Given the description of an element on the screen output the (x, y) to click on. 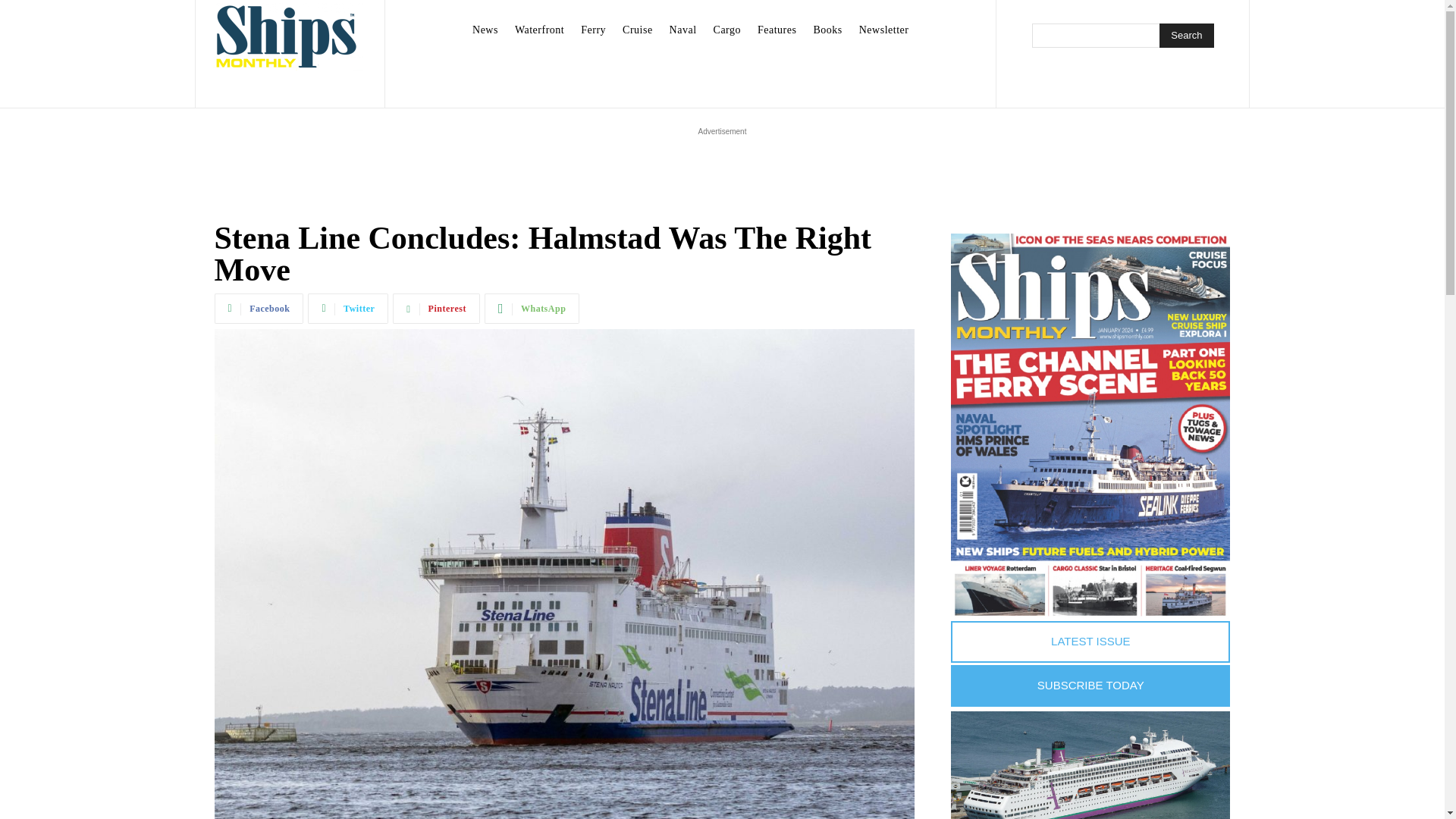
WhatsApp (531, 308)
Newsletter (884, 30)
Waterfront (539, 30)
Twitter (347, 308)
Search (1185, 35)
Facebook (258, 308)
Pinterest (436, 308)
